Given the description of an element on the screen output the (x, y) to click on. 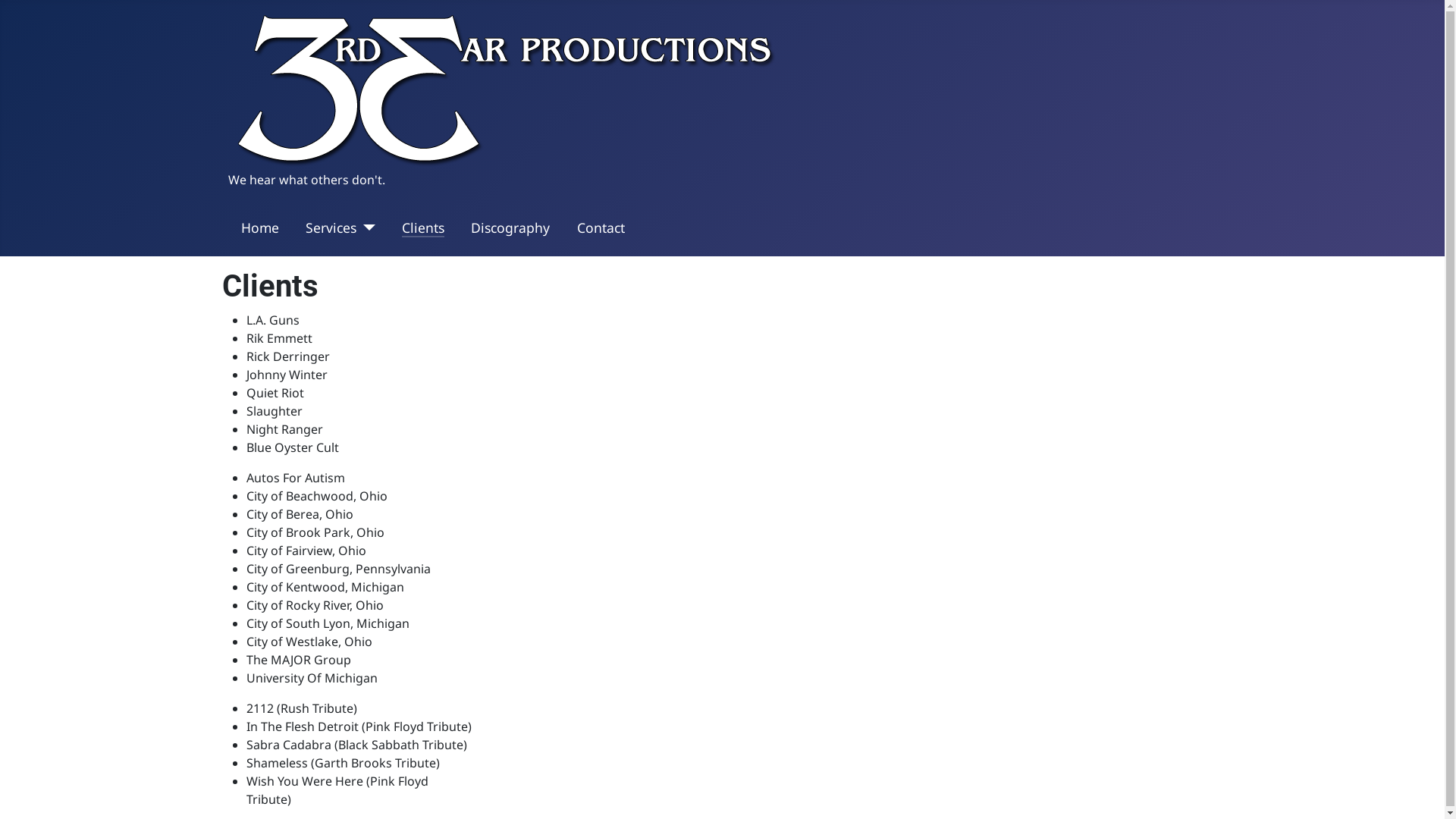
Clients Element type: text (422, 227)
Discography Element type: text (509, 227)
Contact Element type: text (600, 227)
Services Element type: text (330, 227)
Home Element type: text (260, 227)
